Given the description of an element on the screen output the (x, y) to click on. 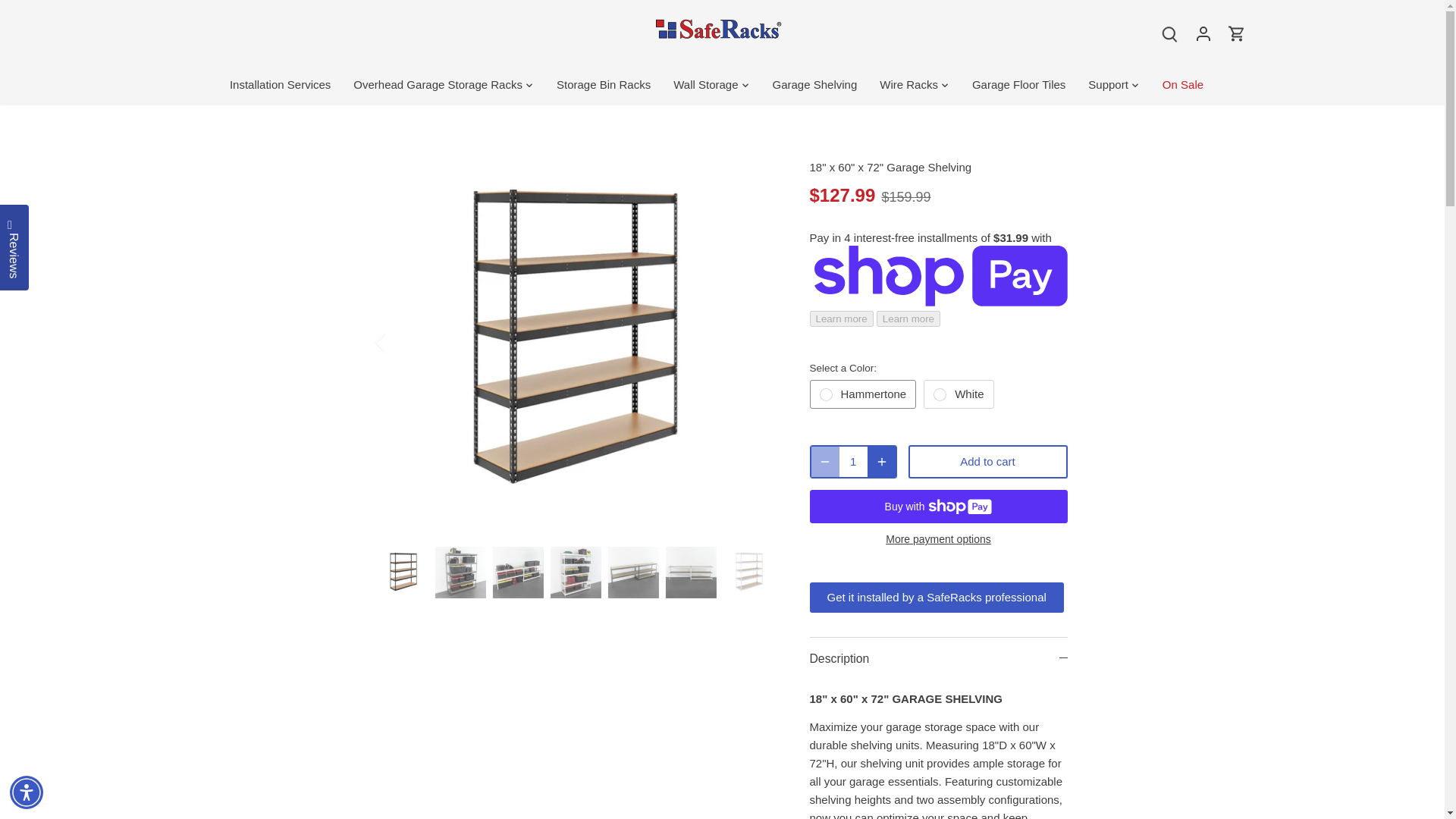
Garage Floor Tiles (1018, 85)
Overhead Garage Storage Racks (438, 85)
Garage Shelving (815, 85)
1 (852, 461)
Storage Bin Racks (603, 85)
Wire Racks (908, 85)
Support (1108, 85)
Accessibility Menu (26, 792)
Wall Storage (705, 85)
Installation Services (286, 85)
